Given the description of an element on the screen output the (x, y) to click on. 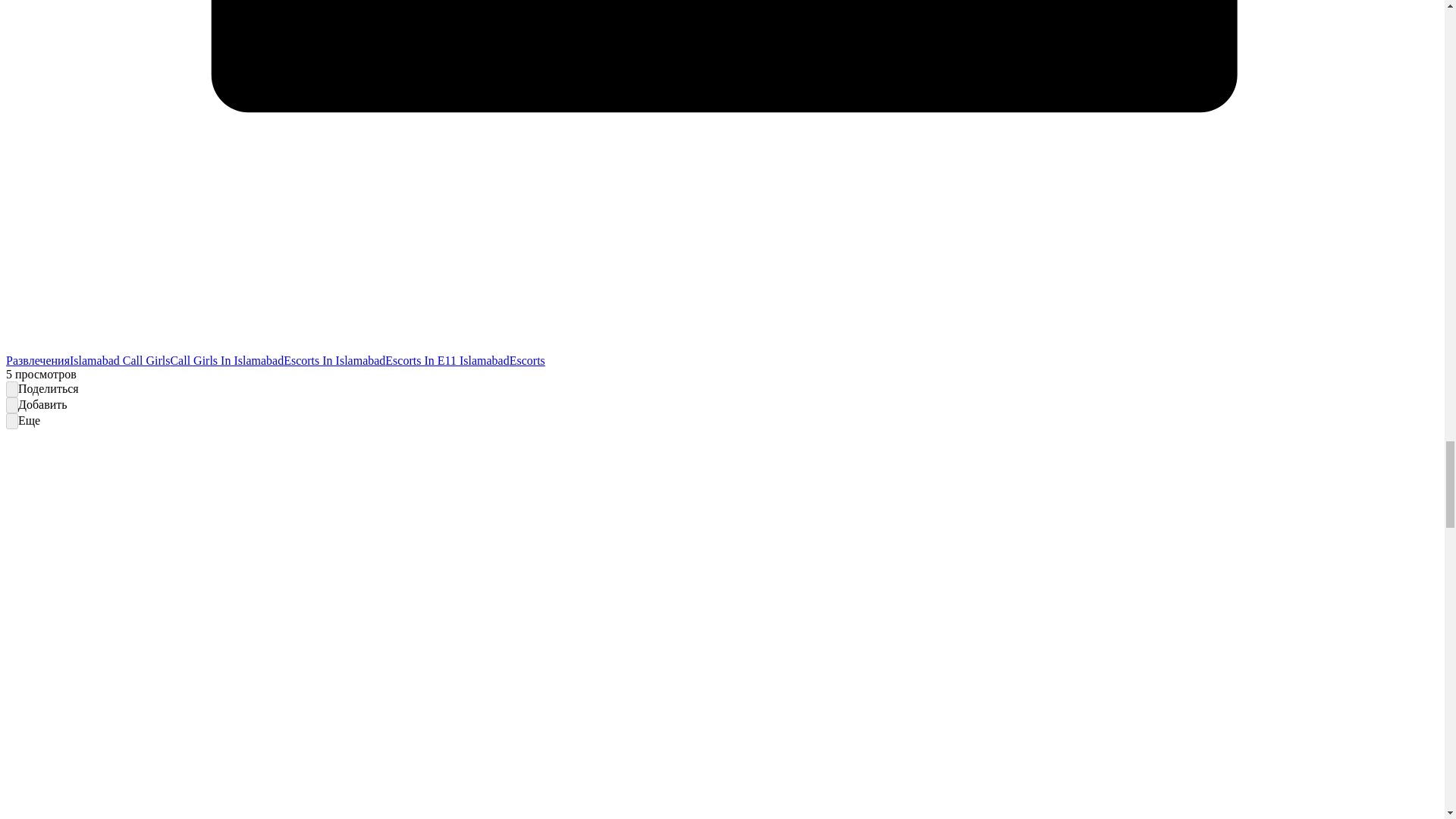
Escorts In Islamabad (334, 359)
Call Girls In Islamabad (226, 359)
Escorts (526, 359)
Escorts In E11 Islamabad (446, 359)
Islamabad Call Girls (119, 359)
